Given the description of an element on the screen output the (x, y) to click on. 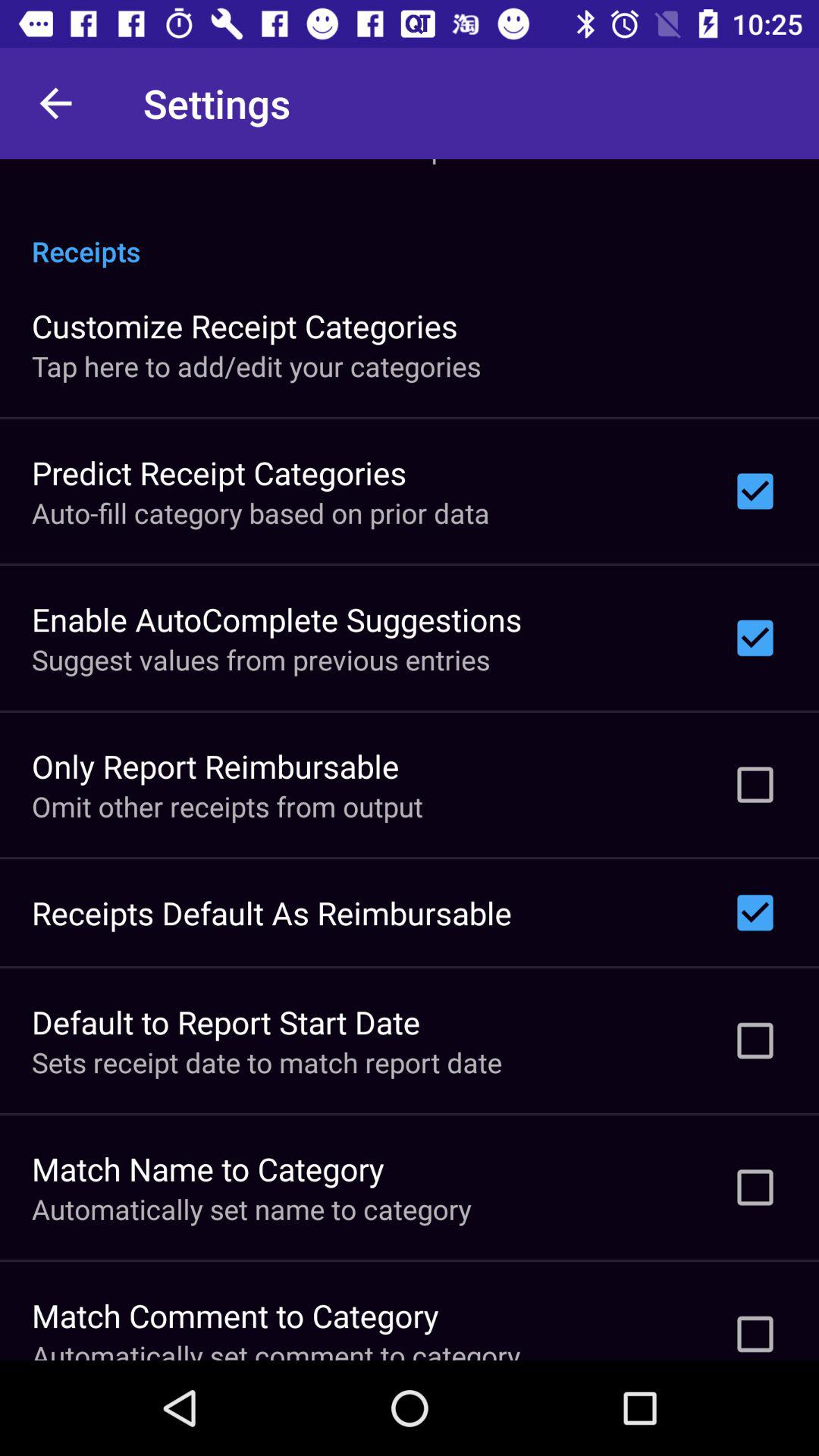
press tap here to item (256, 366)
